Given the description of an element on the screen output the (x, y) to click on. 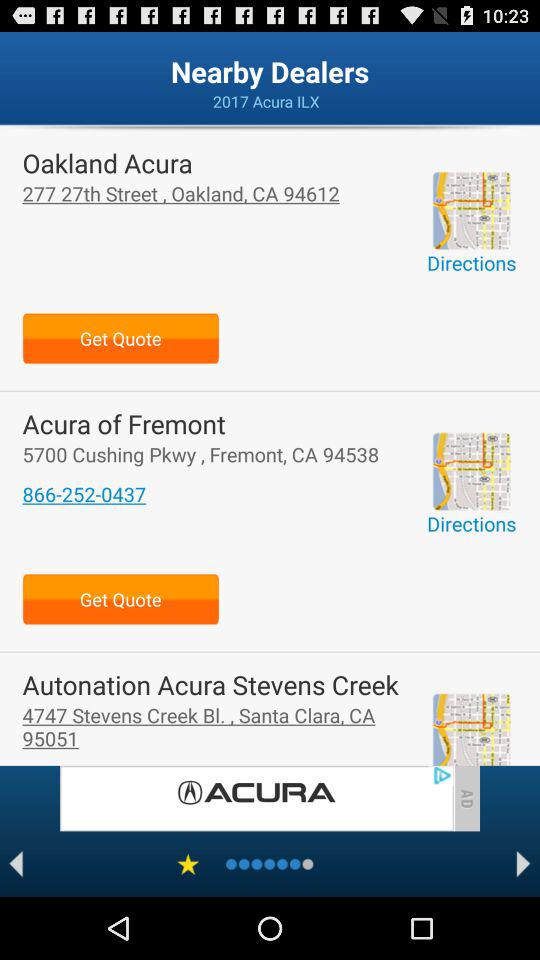
view advertisement (256, 798)
